Given the description of an element on the screen output the (x, y) to click on. 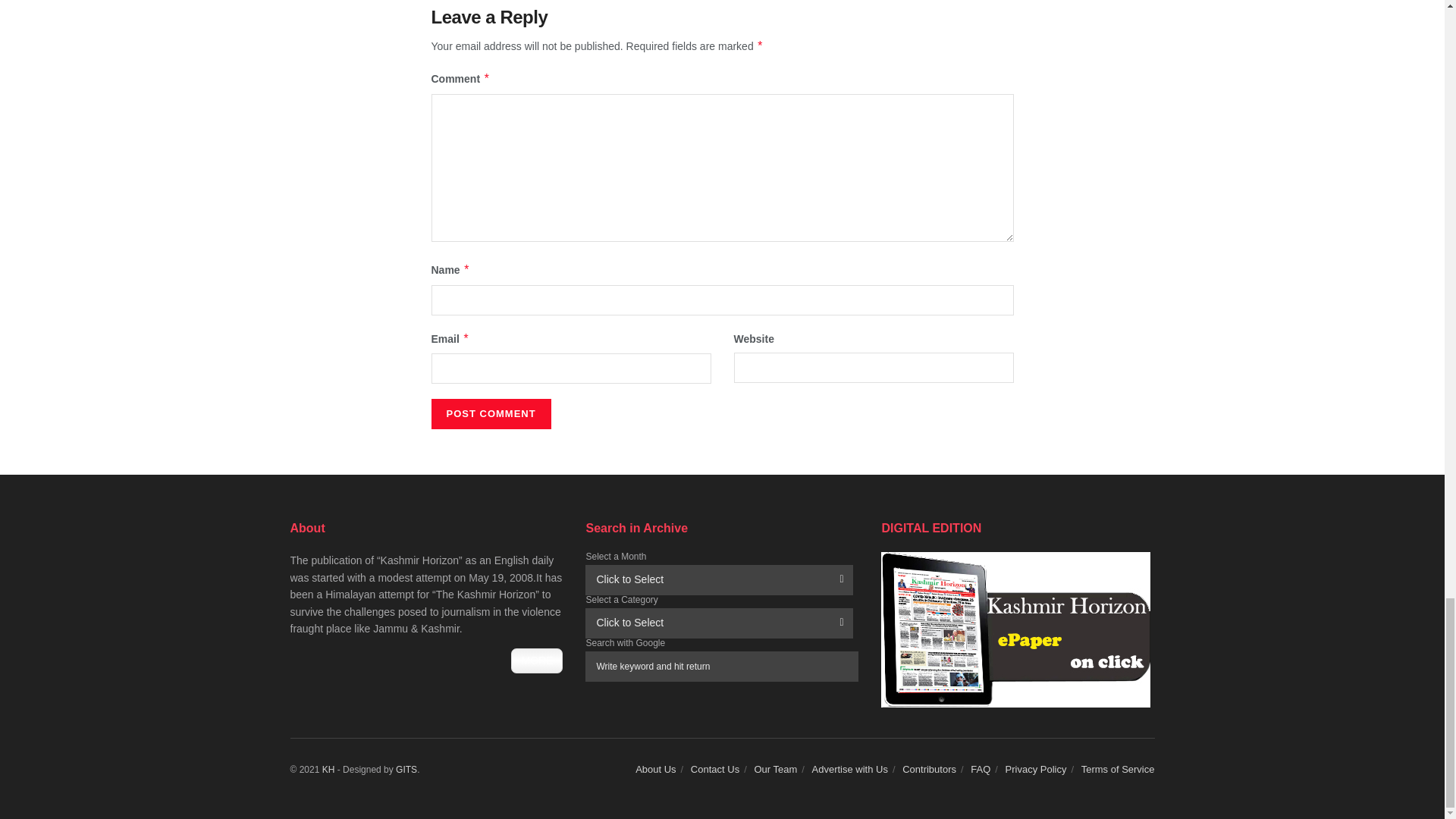
Post Comment (490, 413)
DIGITAL EDITION (1015, 629)
Write keyword and hit return (722, 666)
Gabfire IT Solutions (406, 769)
Kashmir Horion (327, 769)
